Given the description of an element on the screen output the (x, y) to click on. 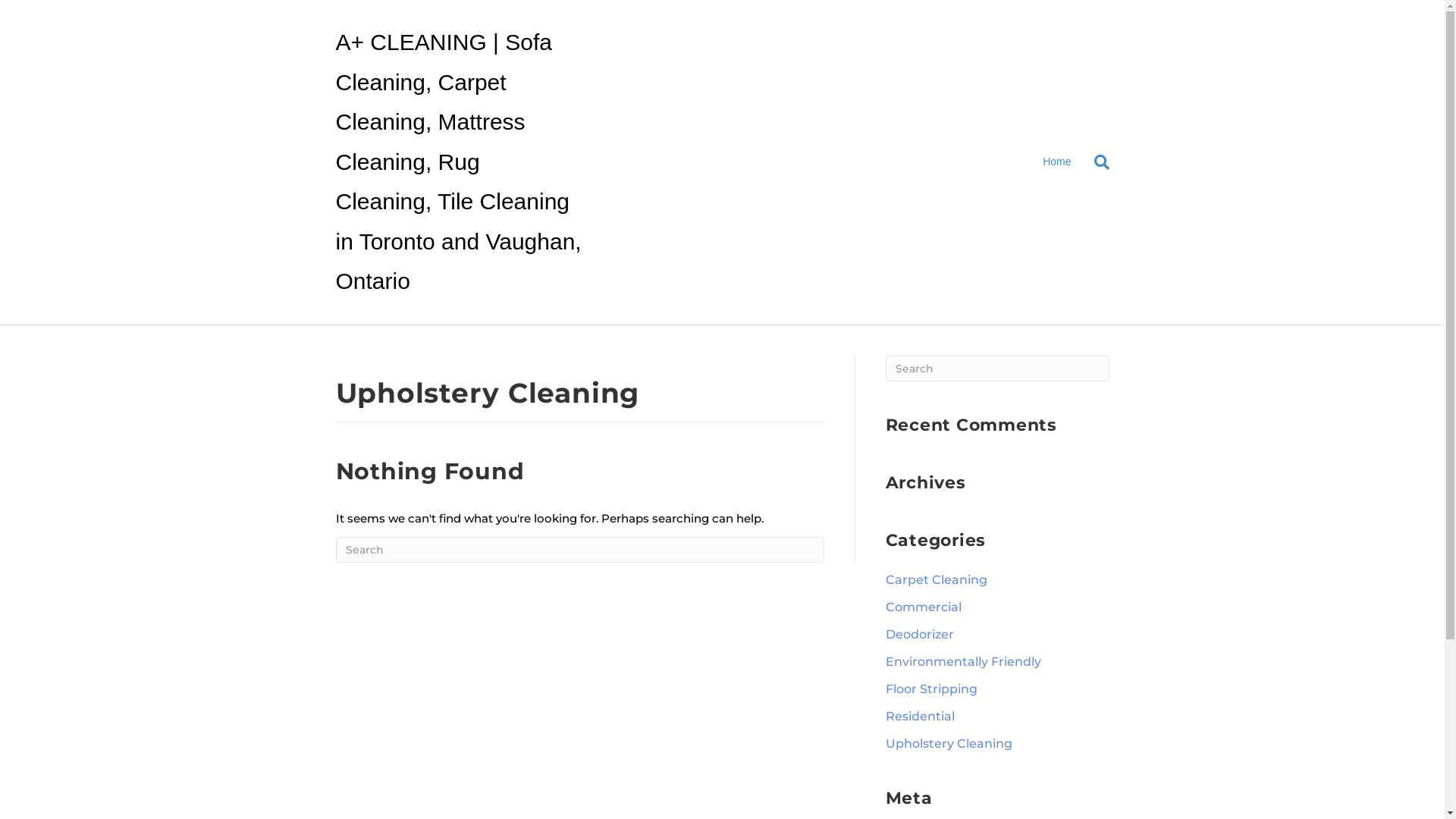
Type and press Enter to search. Element type: hover (579, 549)
Upholstery Cleaning Element type: text (948, 743)
Environmentally Friendly Element type: text (963, 661)
Type and press Enter to search. Element type: hover (997, 367)
Residential Element type: text (919, 716)
Home Element type: text (1056, 162)
Floor Stripping Element type: text (931, 688)
Carpet Cleaning Element type: text (936, 579)
Commercial Element type: text (923, 606)
Deodorizer Element type: text (919, 634)
